Given the description of an element on the screen output the (x, y) to click on. 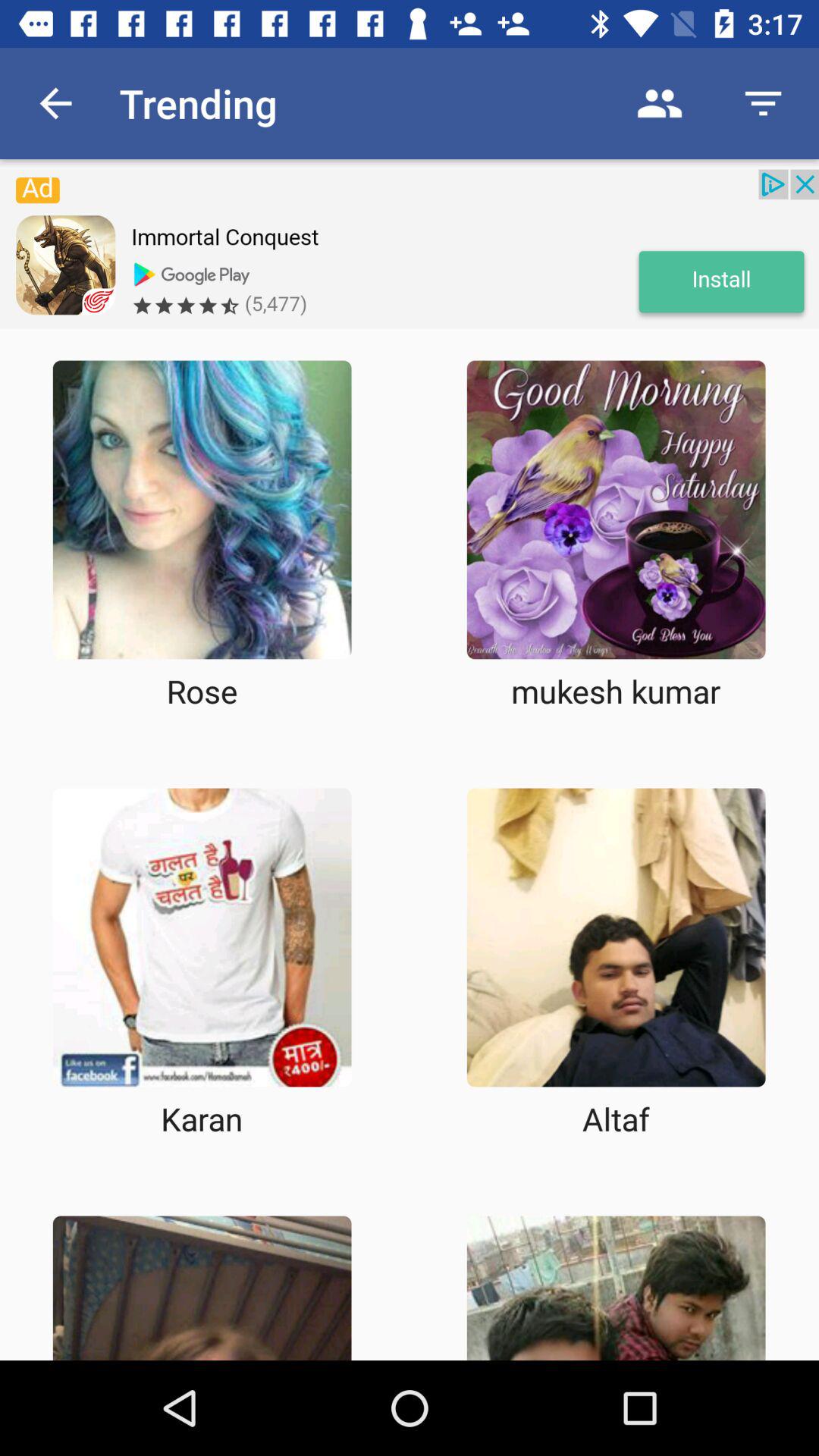
choose box (615, 1287)
